Given the description of an element on the screen output the (x, y) to click on. 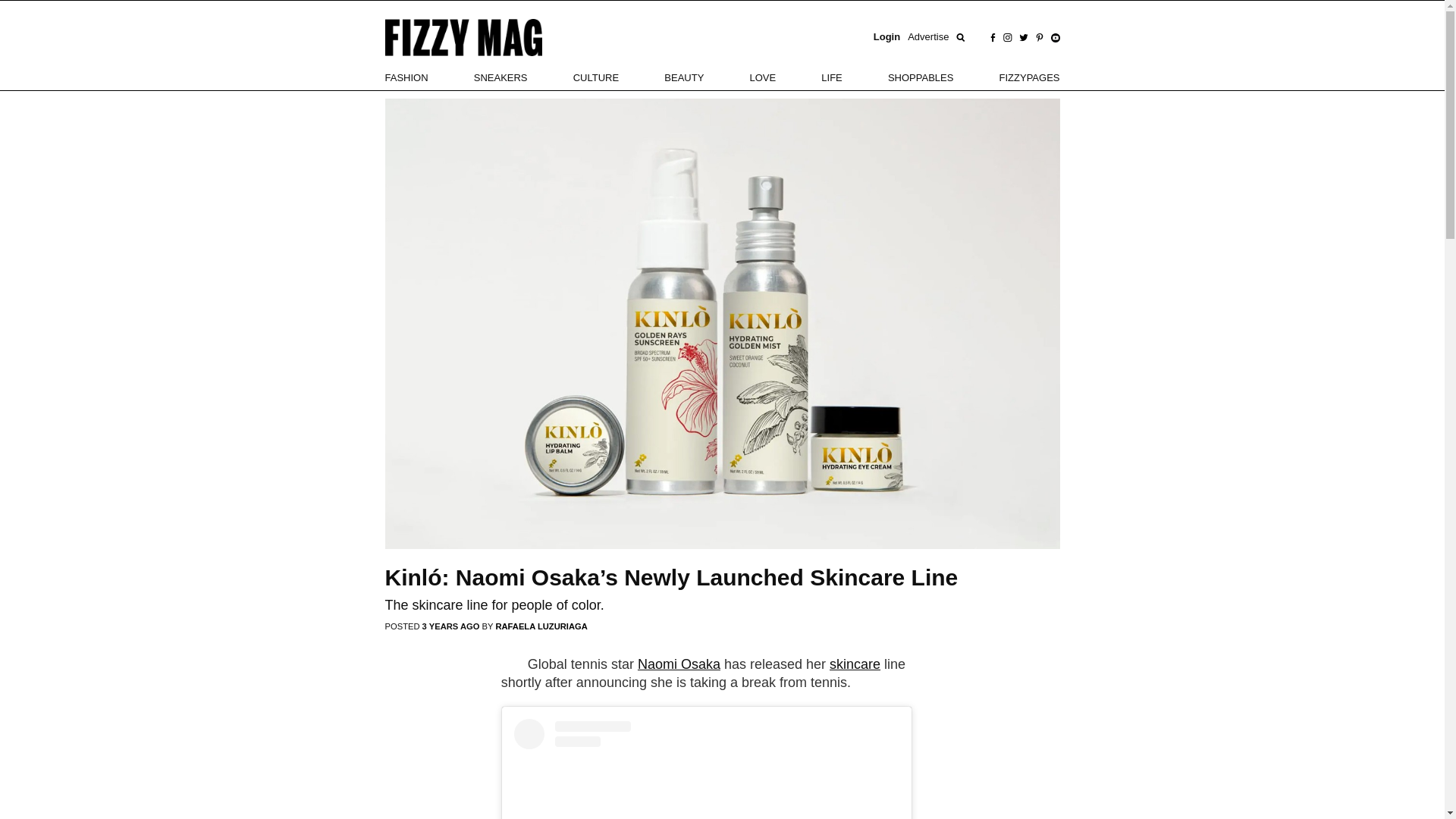
BEAUTY (683, 77)
SNEAKERS (500, 77)
LIFE (831, 77)
Login (886, 37)
CULTURE (595, 77)
14.09.21 02:26 (451, 625)
LOVE (762, 77)
FASHION (406, 77)
Advertise (928, 37)
